Given the description of an element on the screen output the (x, y) to click on. 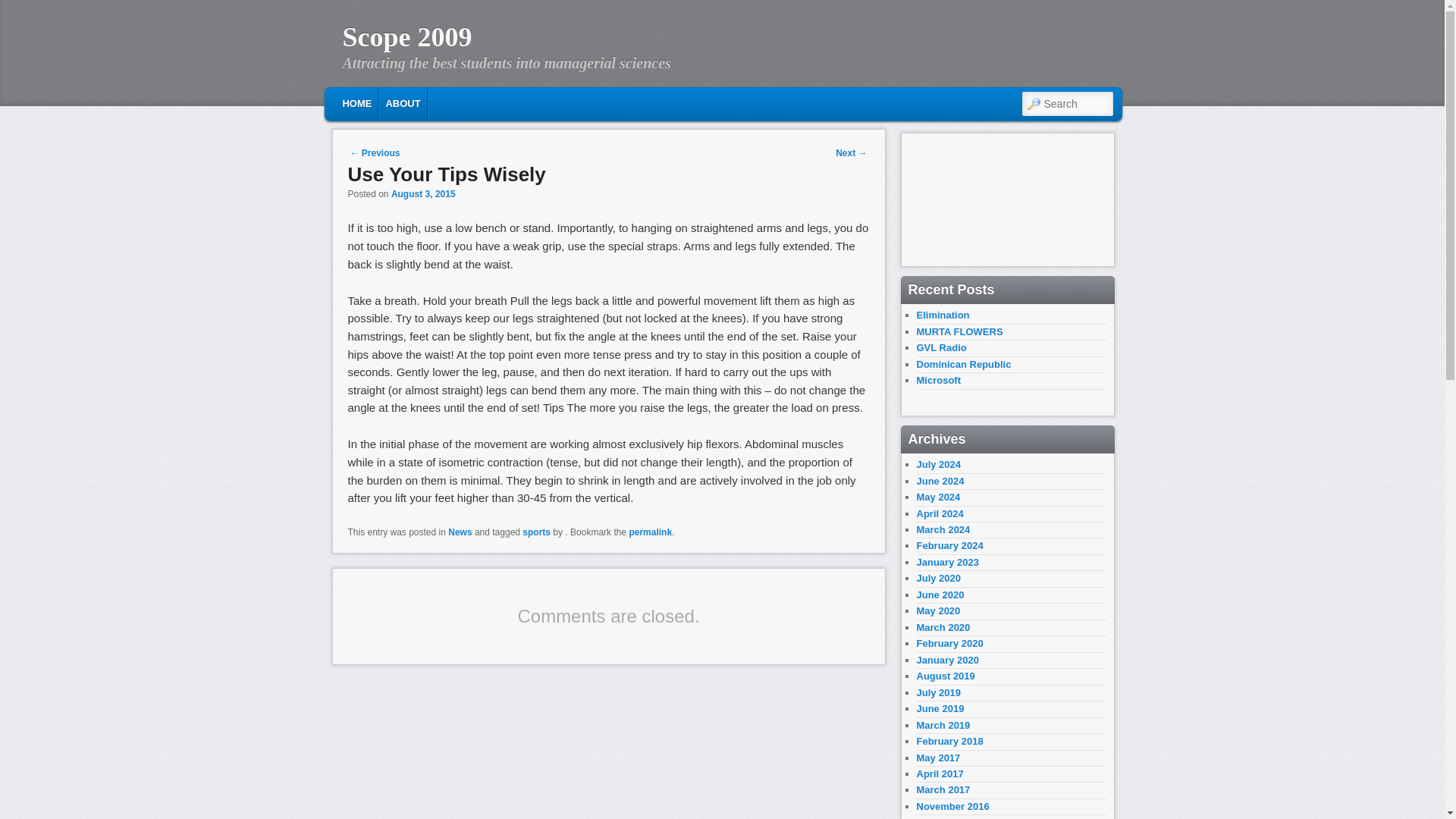
August 3, 2015 (423, 194)
GVL Radio (940, 347)
February 2020 (948, 643)
January 2023 (946, 562)
July 2024 (937, 464)
May 2024 (937, 496)
April 2017 (938, 773)
June 2020 (939, 594)
Dominican Republic (962, 364)
permalink (649, 532)
